Given the description of an element on the screen output the (x, y) to click on. 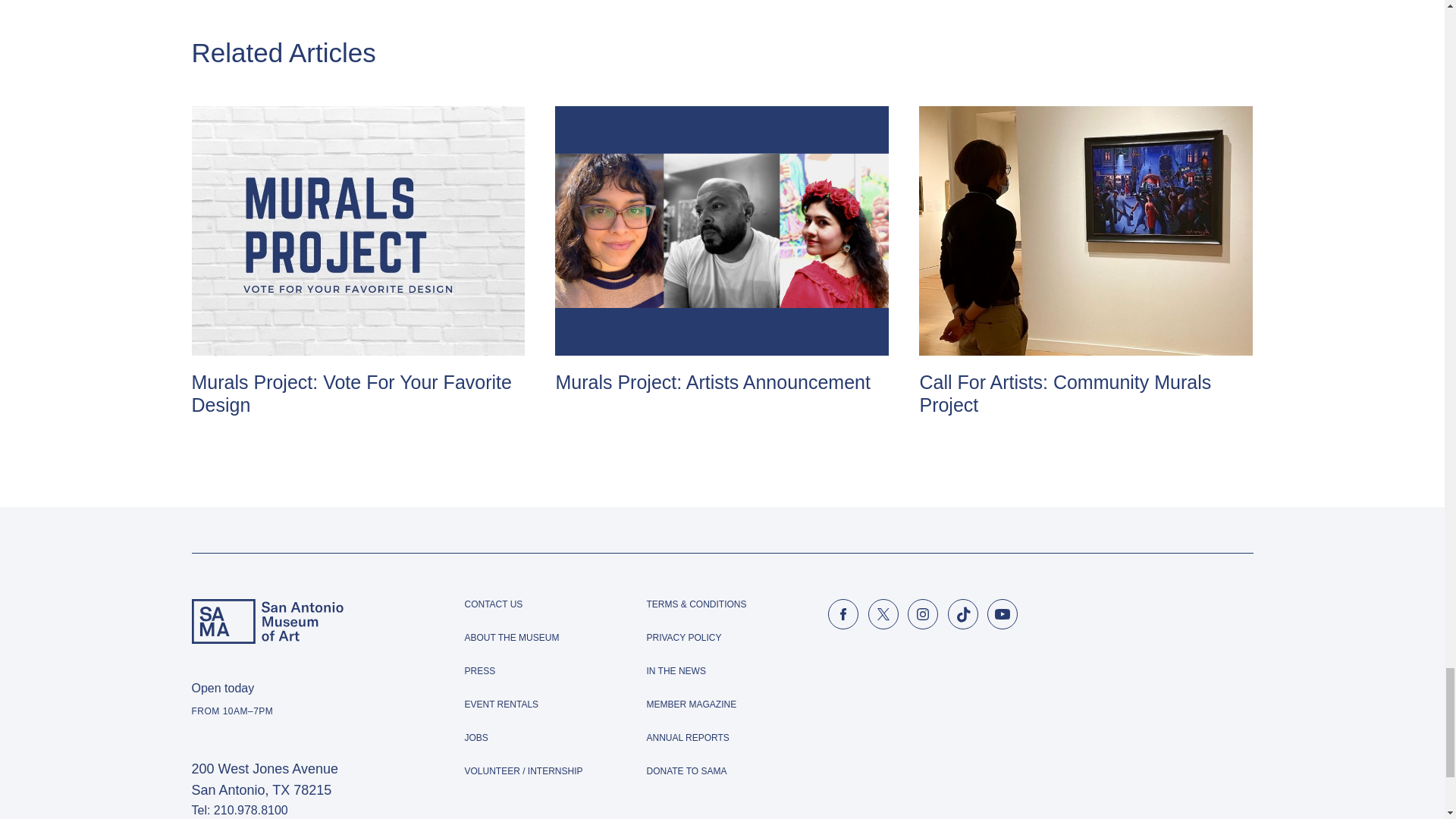
Youtube (1002, 613)
facebook (843, 613)
Instagram (922, 613)
TikTok (962, 613)
San Antonio Museum of Art (266, 621)
